Given the description of an element on the screen output the (x, y) to click on. 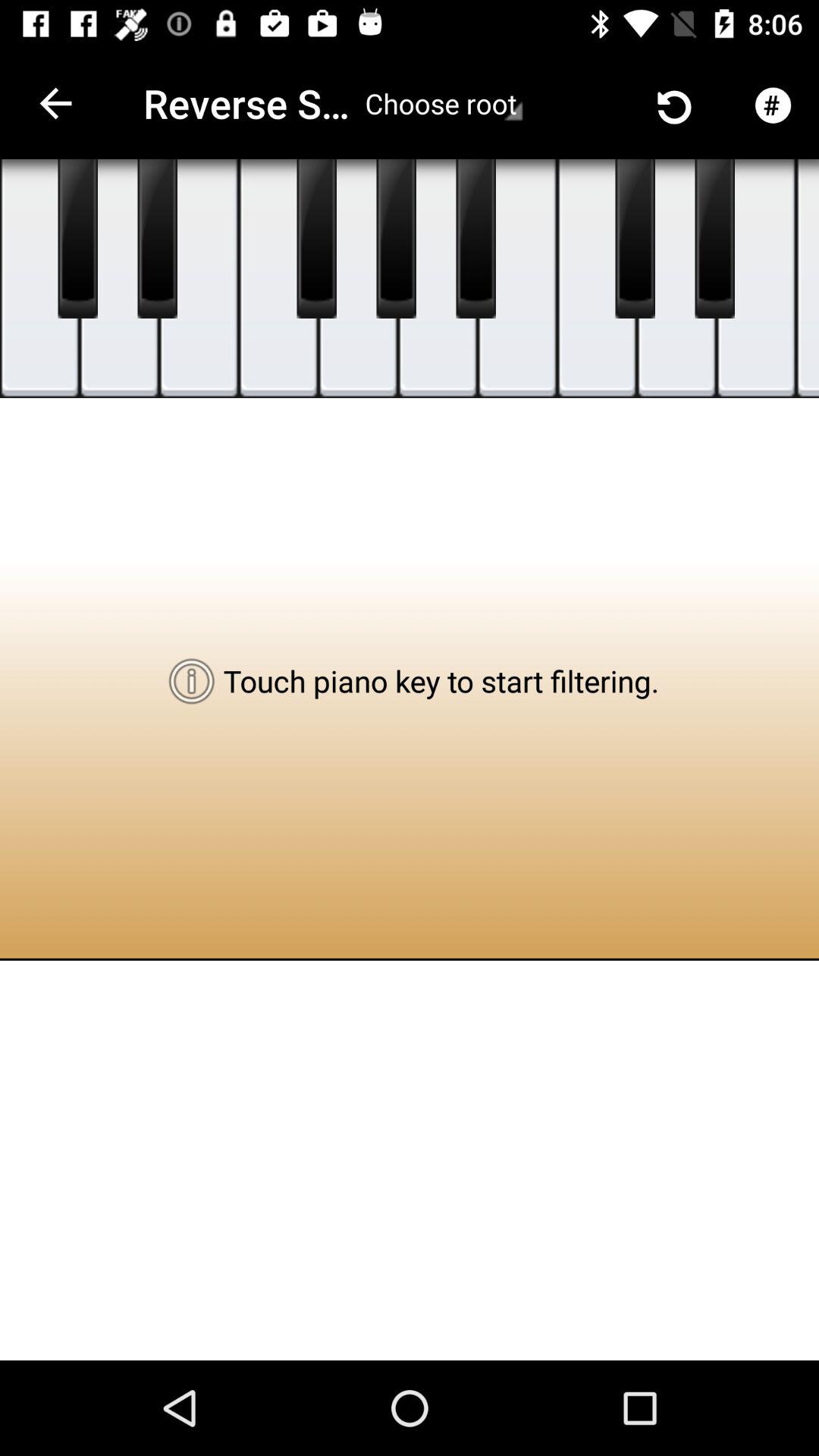
c sharp key (77, 238)
